Given the description of an element on the screen output the (x, y) to click on. 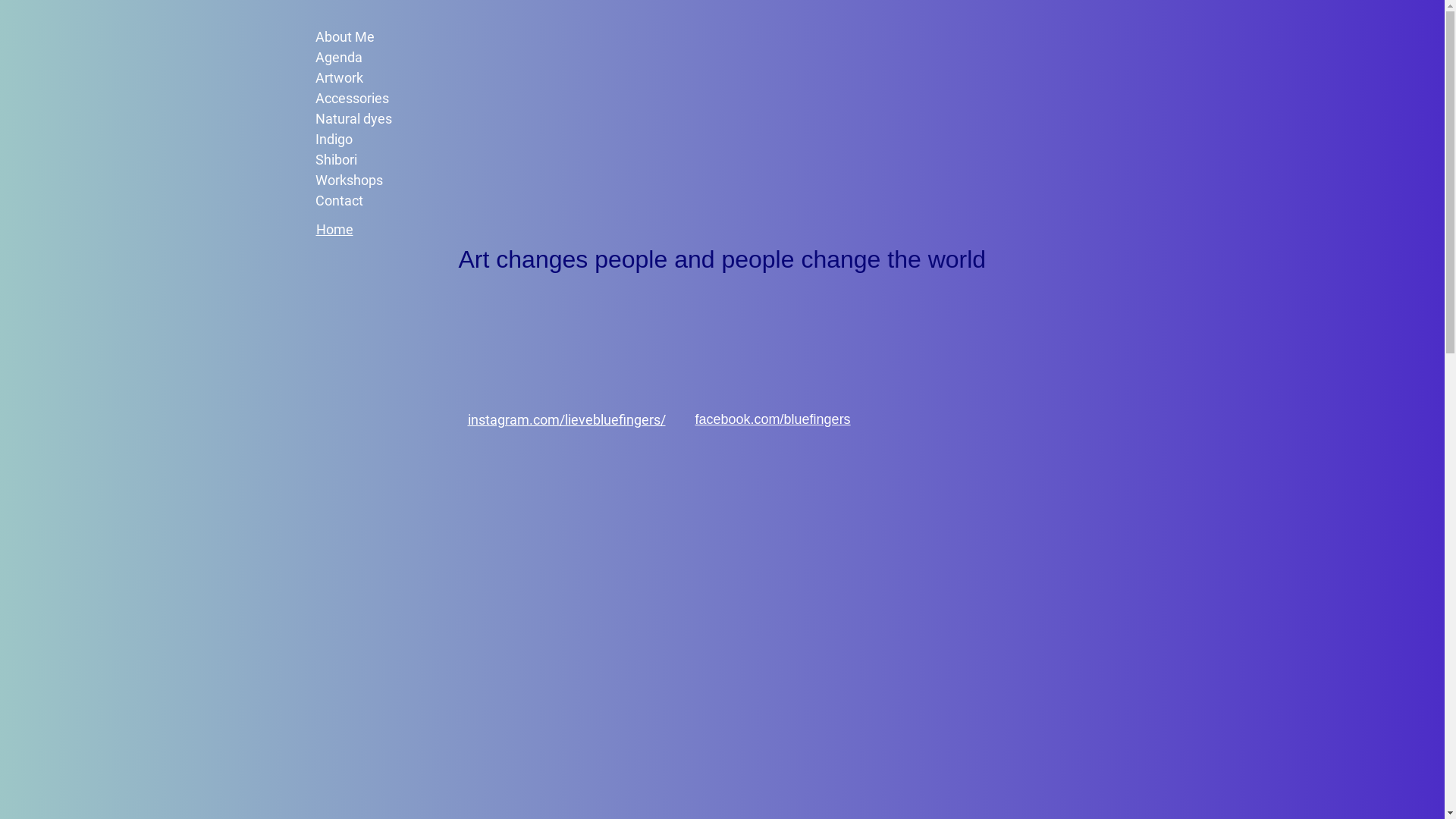
Agenda Element type: text (379, 57)
instagram.com/lievebluefingers/ Element type: text (566, 419)
Home Element type: text (333, 229)
Shibori Element type: text (379, 159)
Artwork Element type: text (379, 77)
Workshops Element type: text (379, 179)
About Me Element type: text (379, 36)
Natural dyes Element type: text (379, 118)
Indigo Element type: text (379, 138)
facebook.com/bluefingers Element type: text (772, 418)
Contact Element type: text (379, 200)
Accessories Element type: text (379, 97)
